Given the description of an element on the screen output the (x, y) to click on. 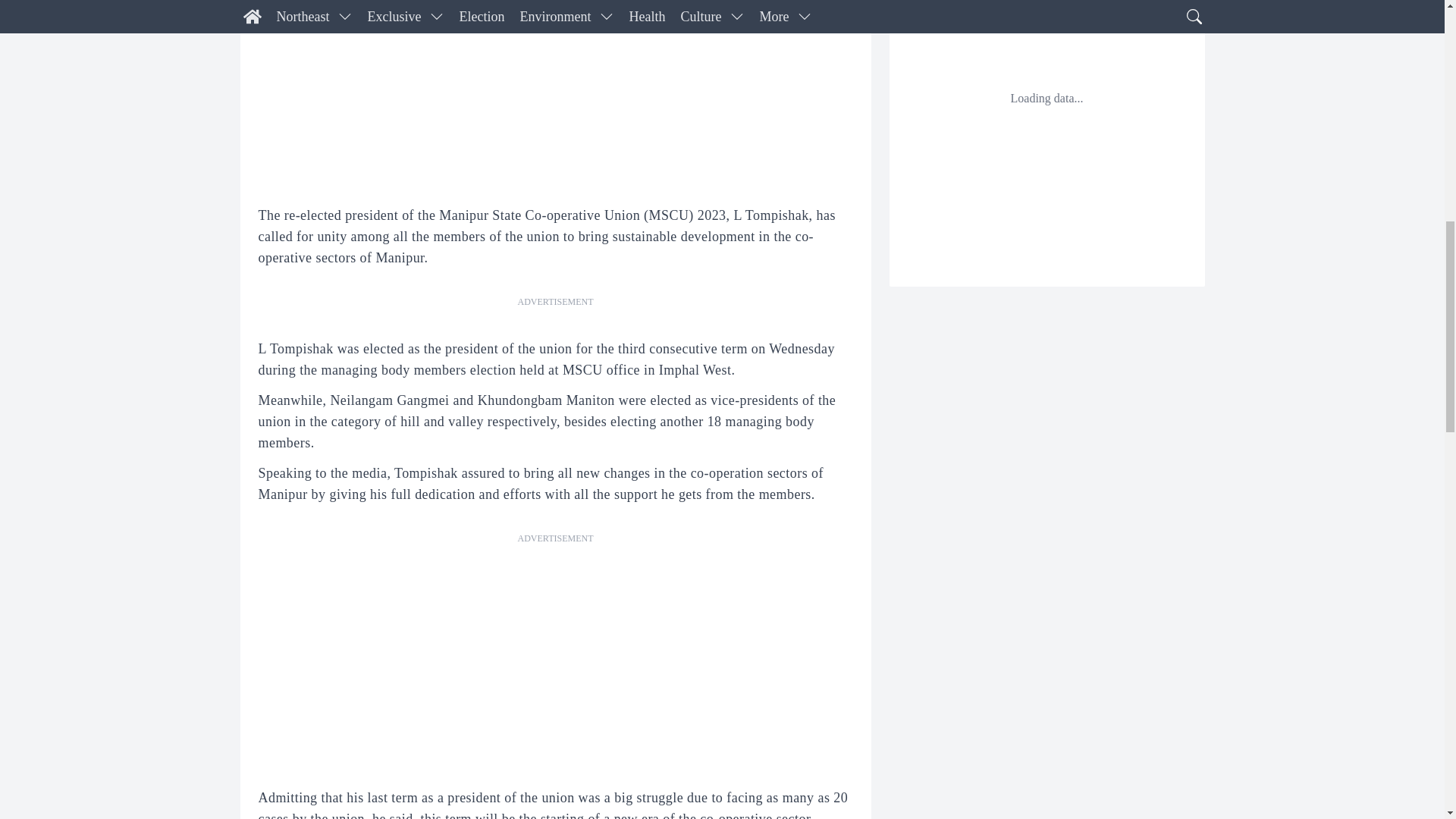
Advertisement (555, 653)
